Given the description of an element on the screen output the (x, y) to click on. 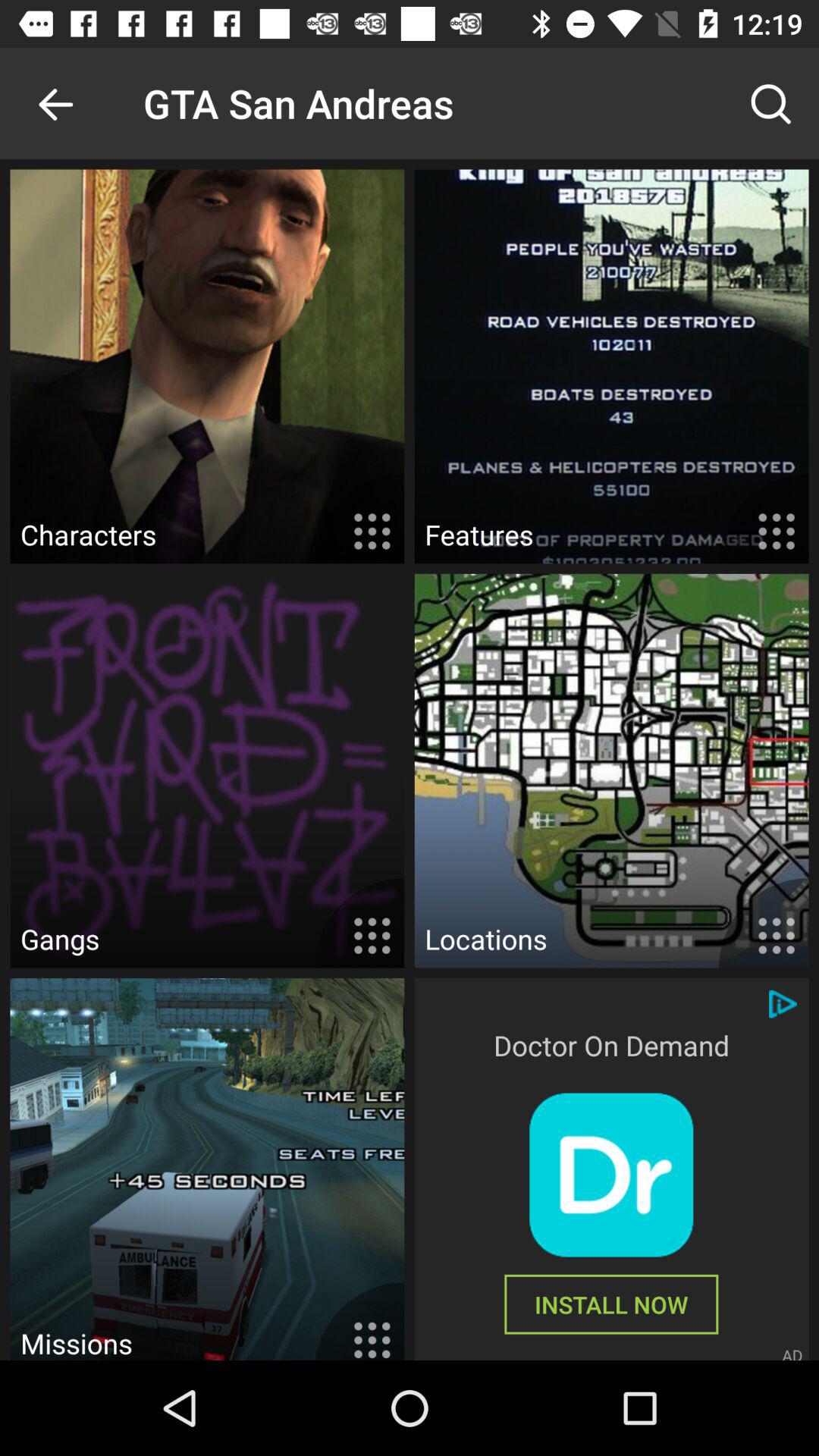
go back (55, 103)
